Given the description of an element on the screen output the (x, y) to click on. 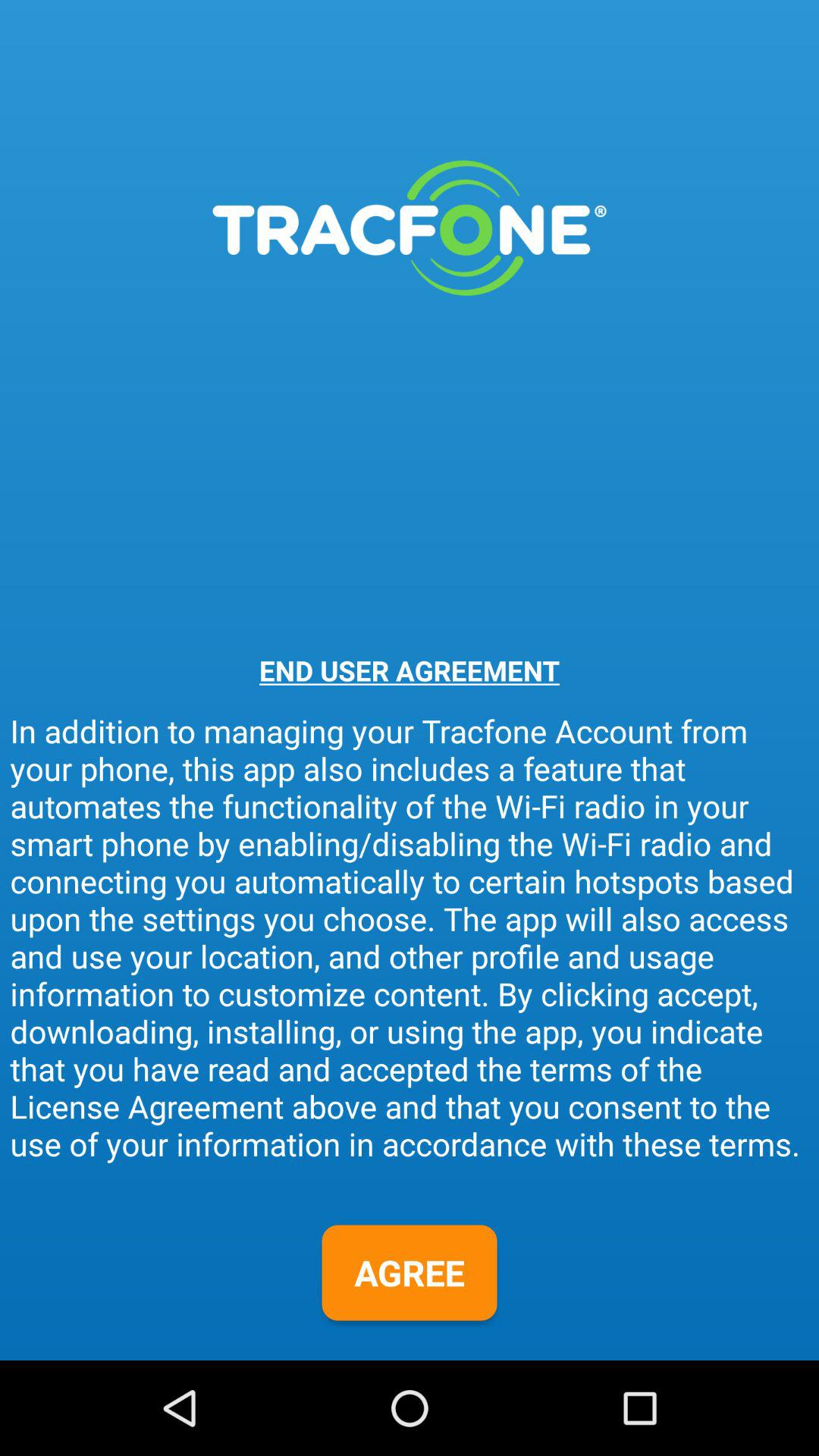
flip to end user agreement icon (409, 670)
